Given the description of an element on the screen output the (x, y) to click on. 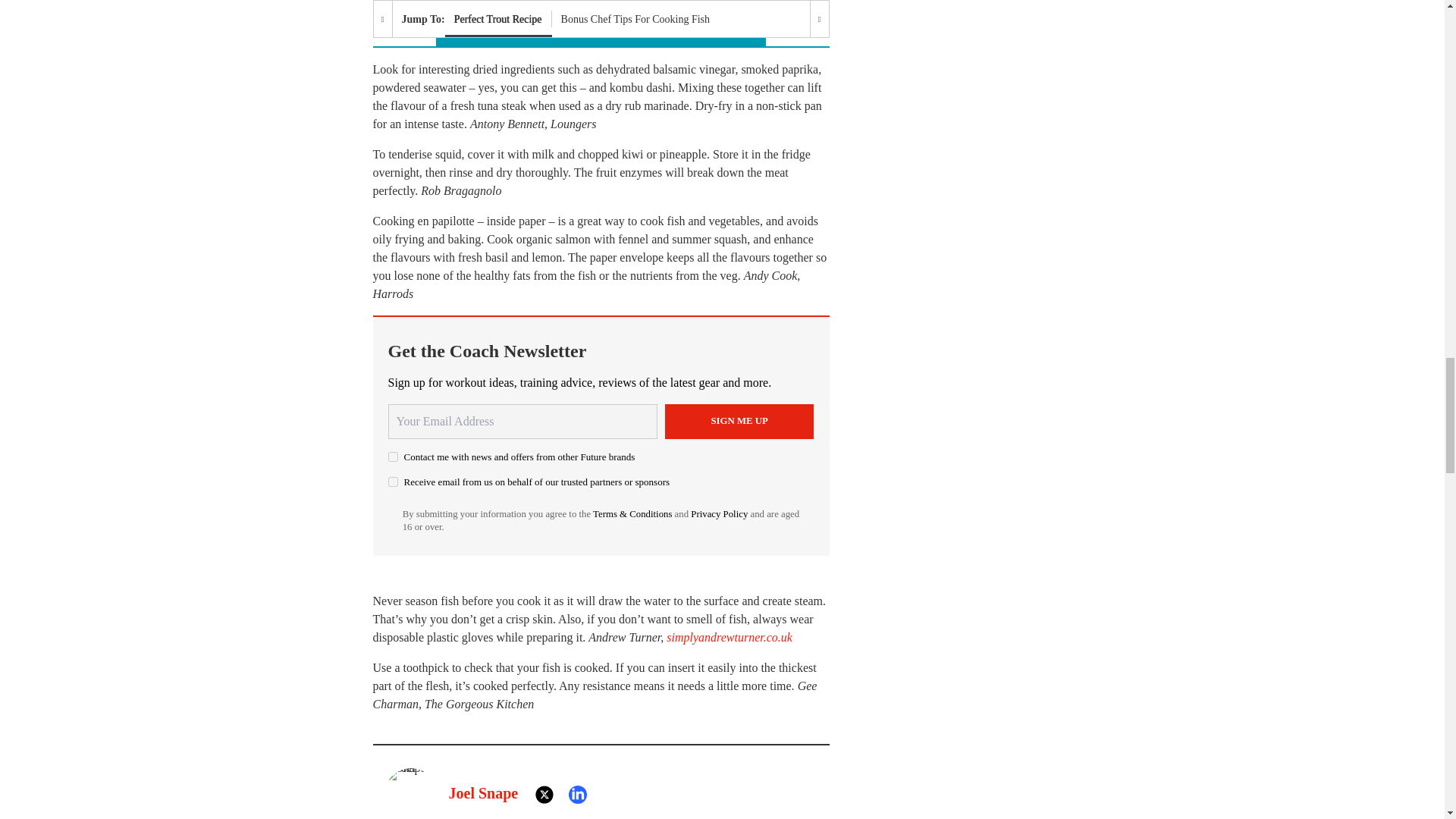
Sign me up (739, 421)
on (392, 456)
on (392, 481)
